Given the description of an element on the screen output the (x, y) to click on. 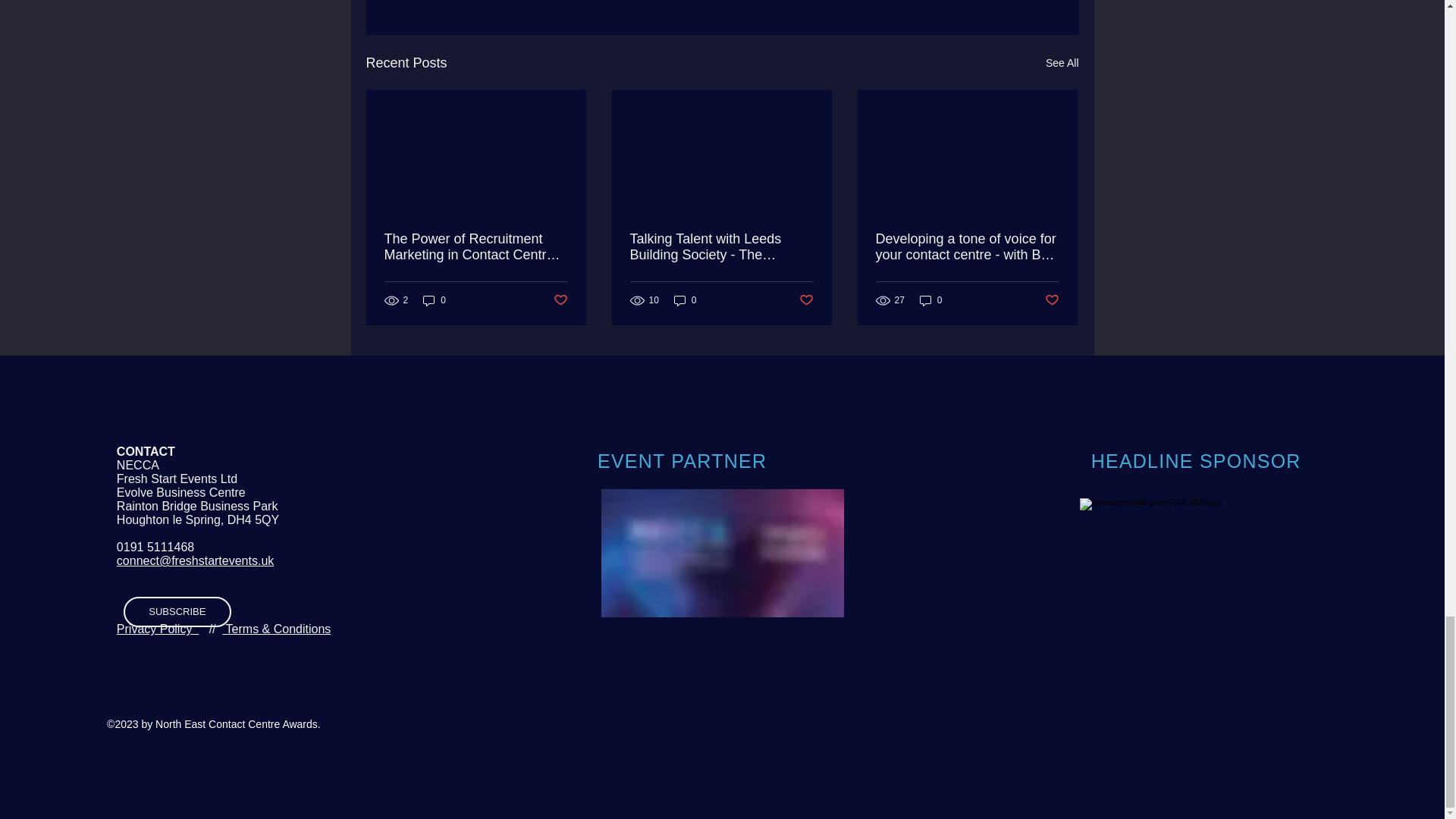
See All (1061, 63)
0 (685, 300)
Post not marked as liked (1052, 300)
SUBSCRIBE (177, 612)
0 (434, 300)
0 (930, 300)
Post not marked as liked (806, 300)
Privacy Policy   (157, 628)
Post not marked as liked (560, 300)
